Given the description of an element on the screen output the (x, y) to click on. 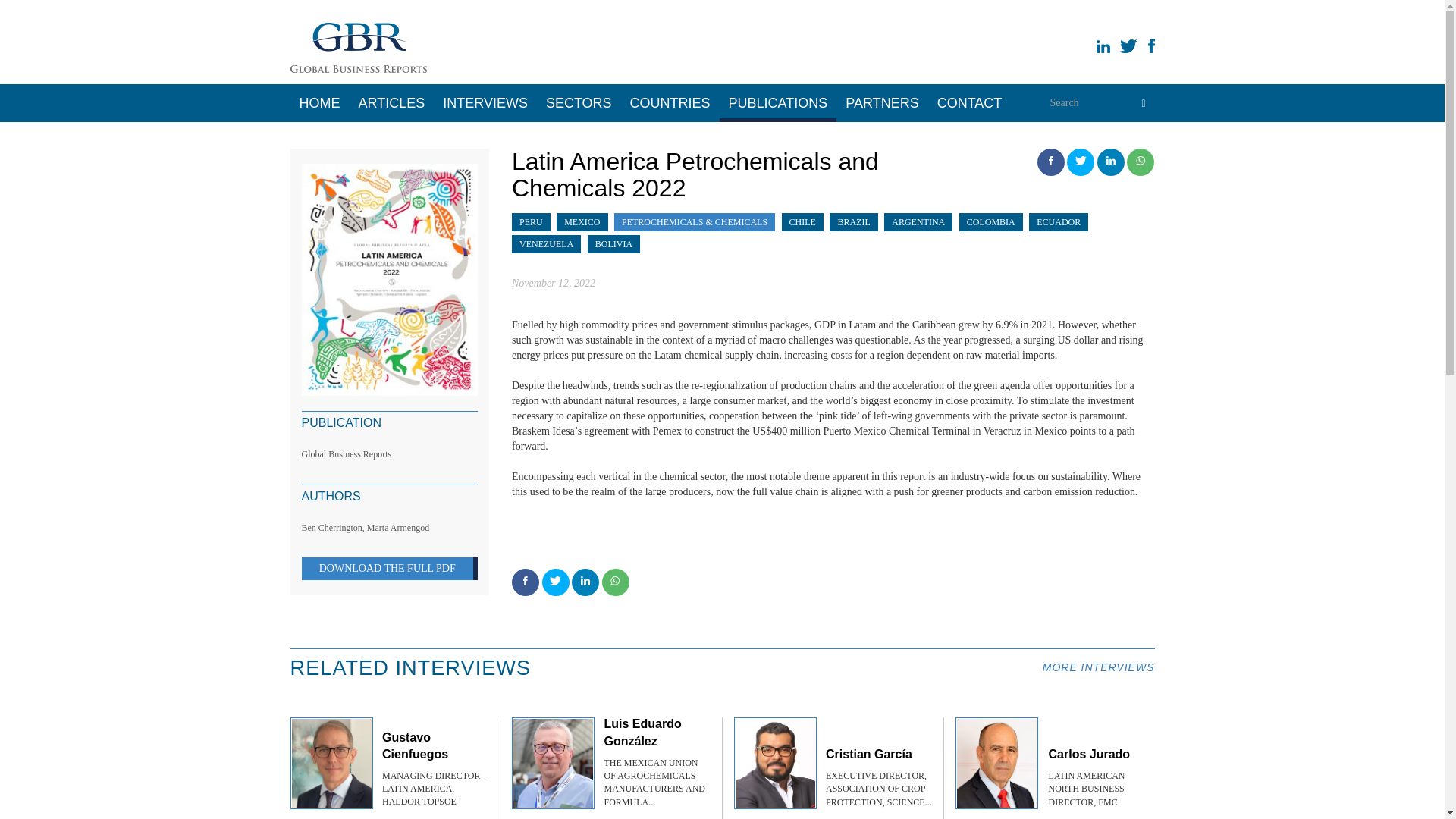
BRAZIL (853, 222)
PARTNERS (881, 103)
VENEZUELA (546, 244)
PERU (531, 222)
ECUADOR (1058, 222)
MEXICO (581, 222)
Gustavo Cienfuegos (414, 746)
PUBLICATIONS (778, 103)
COLOMBIA (990, 222)
HOME (319, 103)
SECTORS (579, 103)
ARGENTINA (917, 222)
BOLIVIA (613, 244)
INTERVIEWS (485, 103)
MORE INTERVIEWS (1098, 667)
